Given the description of an element on the screen output the (x, y) to click on. 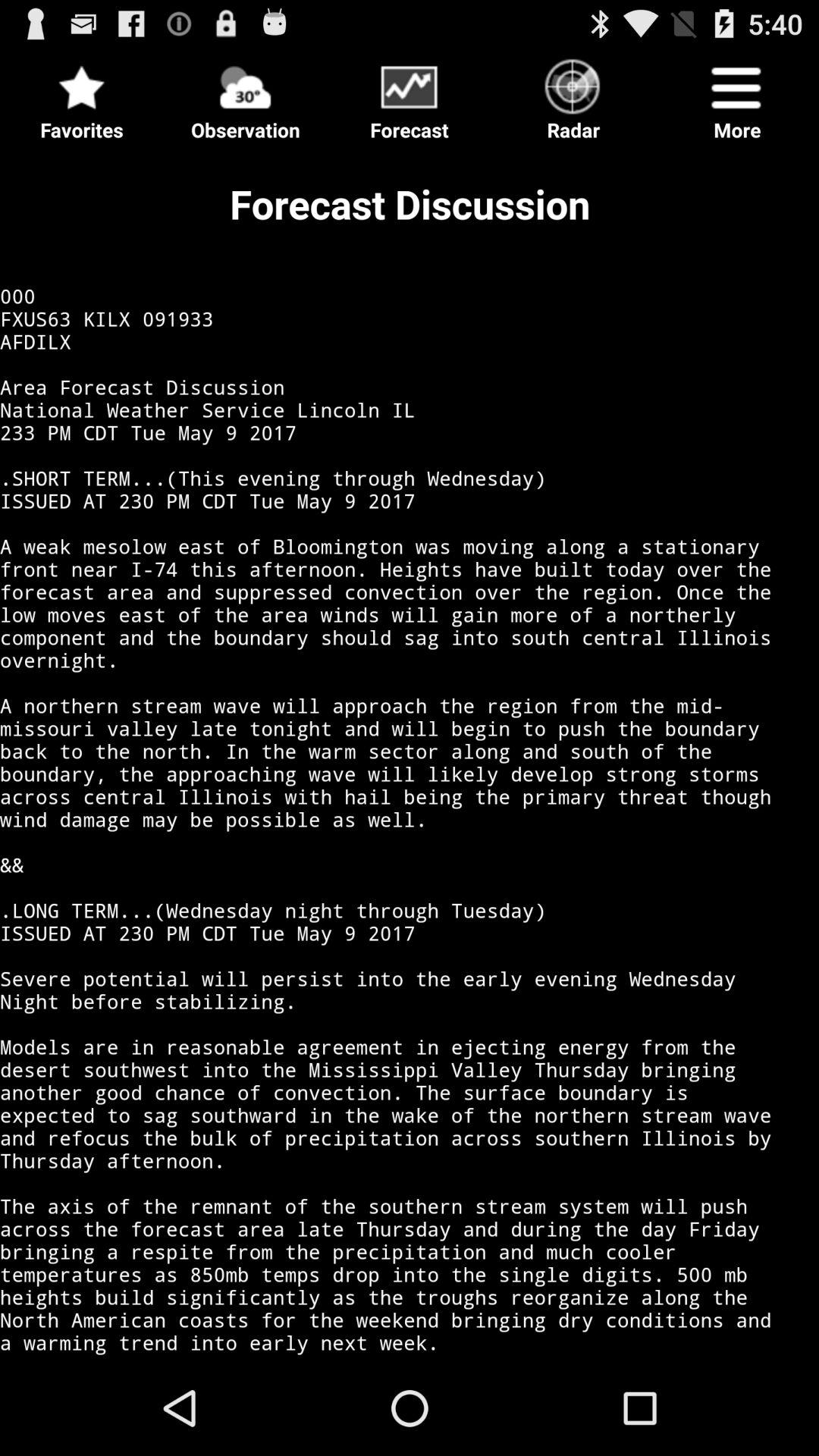
scroll until radar icon (573, 95)
